Given the description of an element on the screen output the (x, y) to click on. 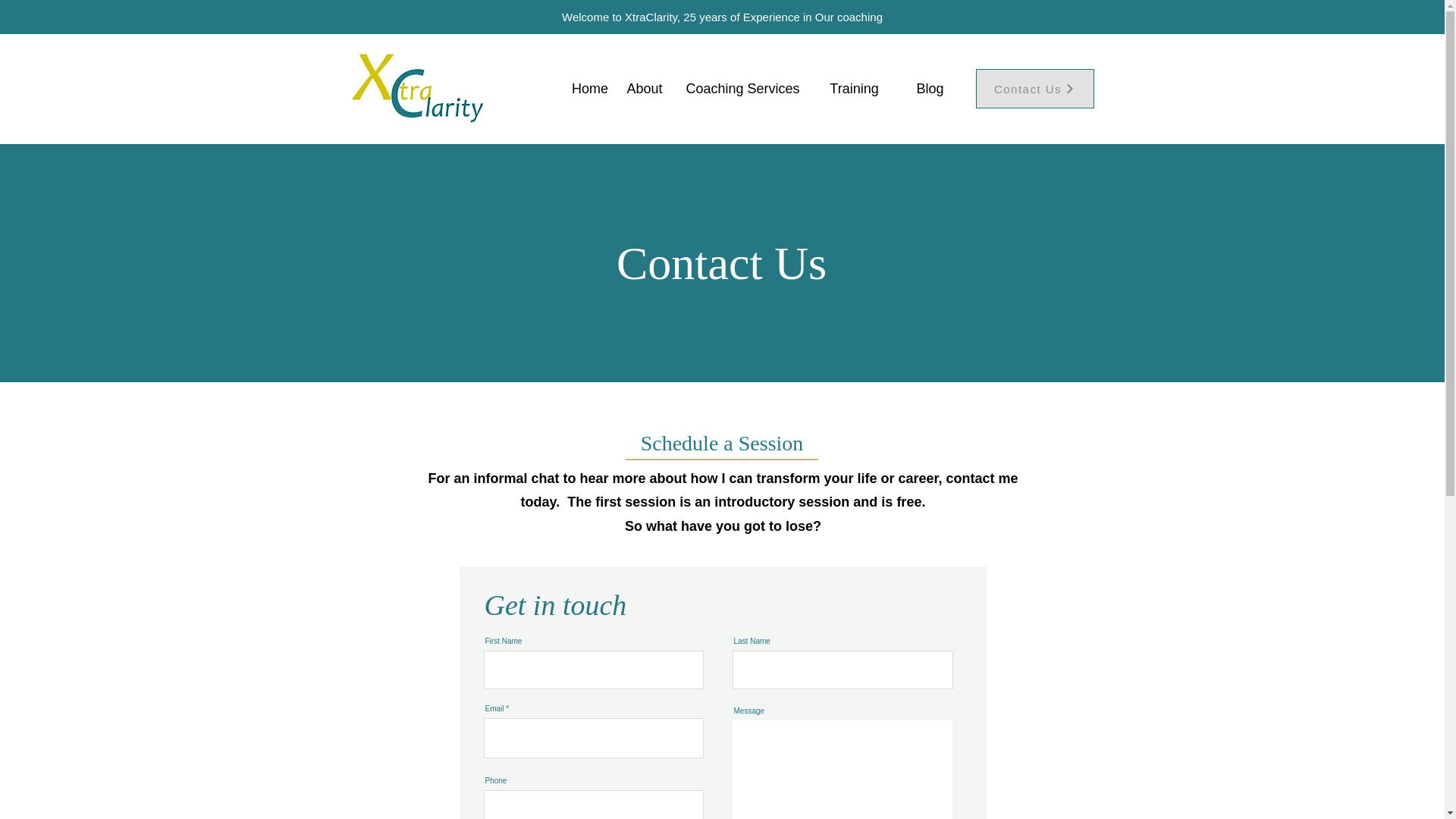
Contact Us (1034, 88)
About (644, 88)
Home (590, 88)
